Given the description of an element on the screen output the (x, y) to click on. 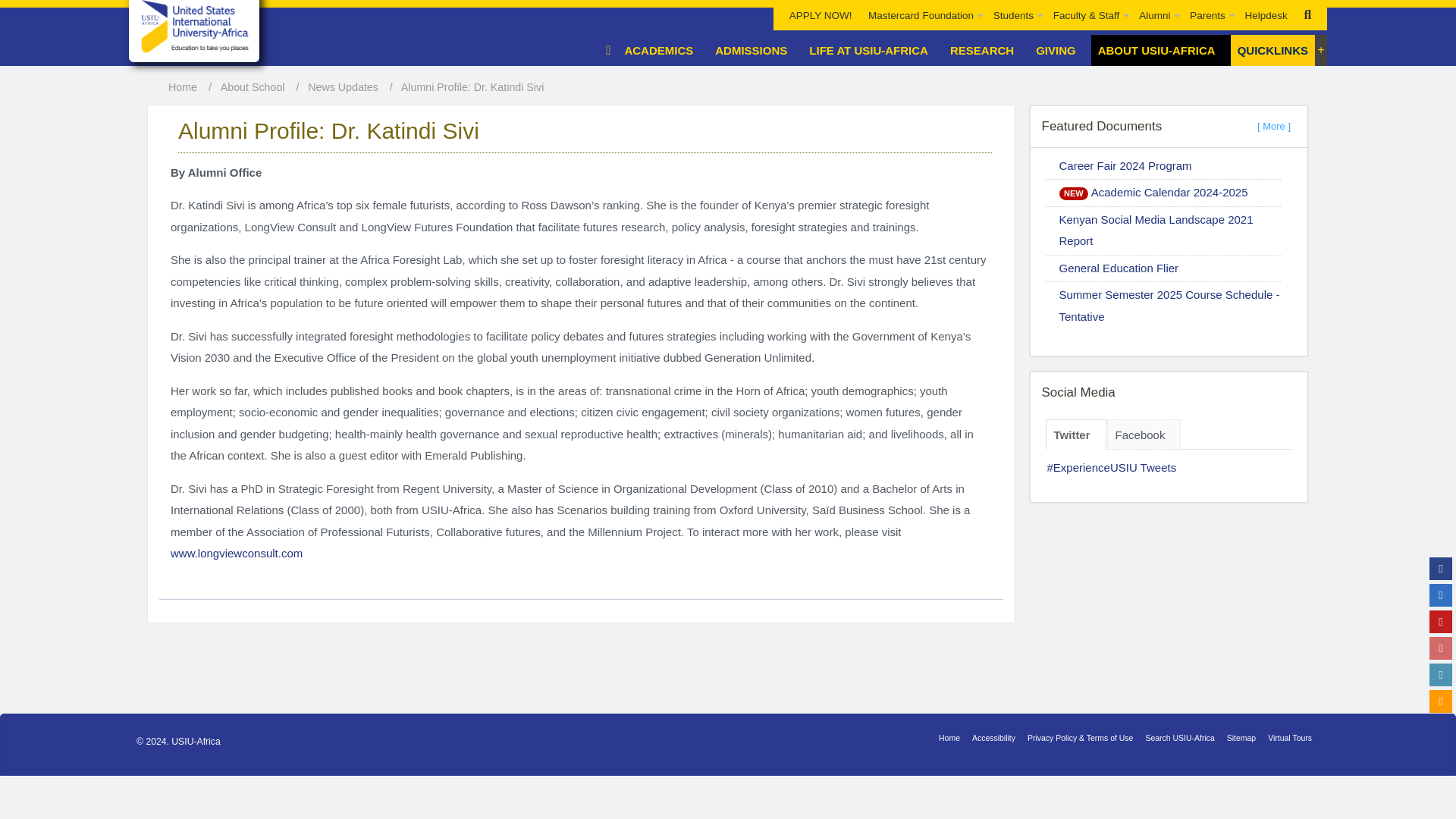
X (1440, 594)
Facebook (1440, 568)
Instagram (1440, 648)
Search (1307, 15)
YouTube (1440, 621)
APPLY NOW! (820, 15)
Mastercard Foundation (922, 15)
Students (1015, 15)
LinkedIn (1440, 674)
Talk to us (1440, 701)
